Given the description of an element on the screen output the (x, y) to click on. 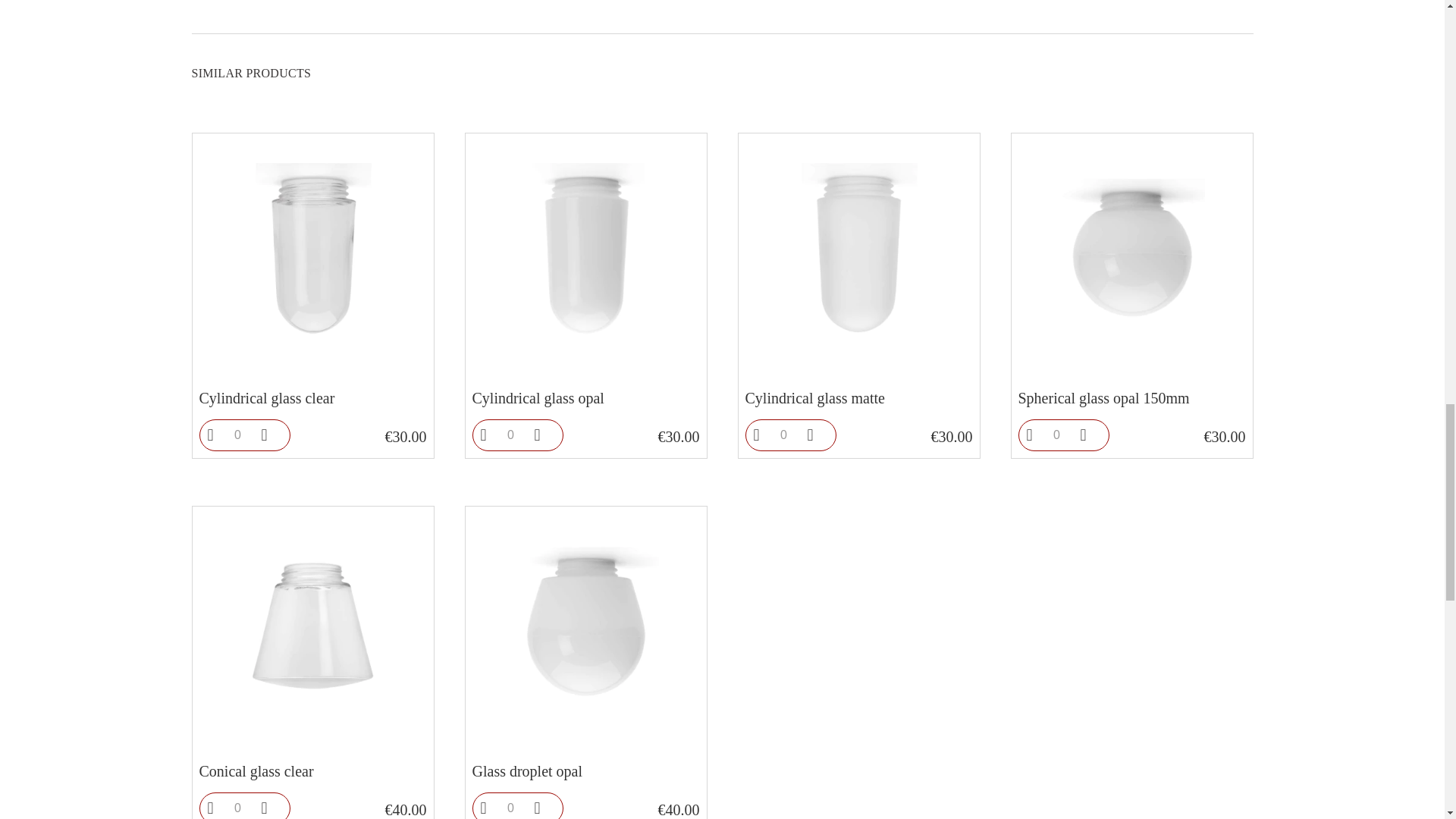
0 (236, 806)
0 (1056, 435)
0 (236, 435)
0 (510, 806)
0 (510, 435)
0 (782, 435)
